Given the description of an element on the screen output the (x, y) to click on. 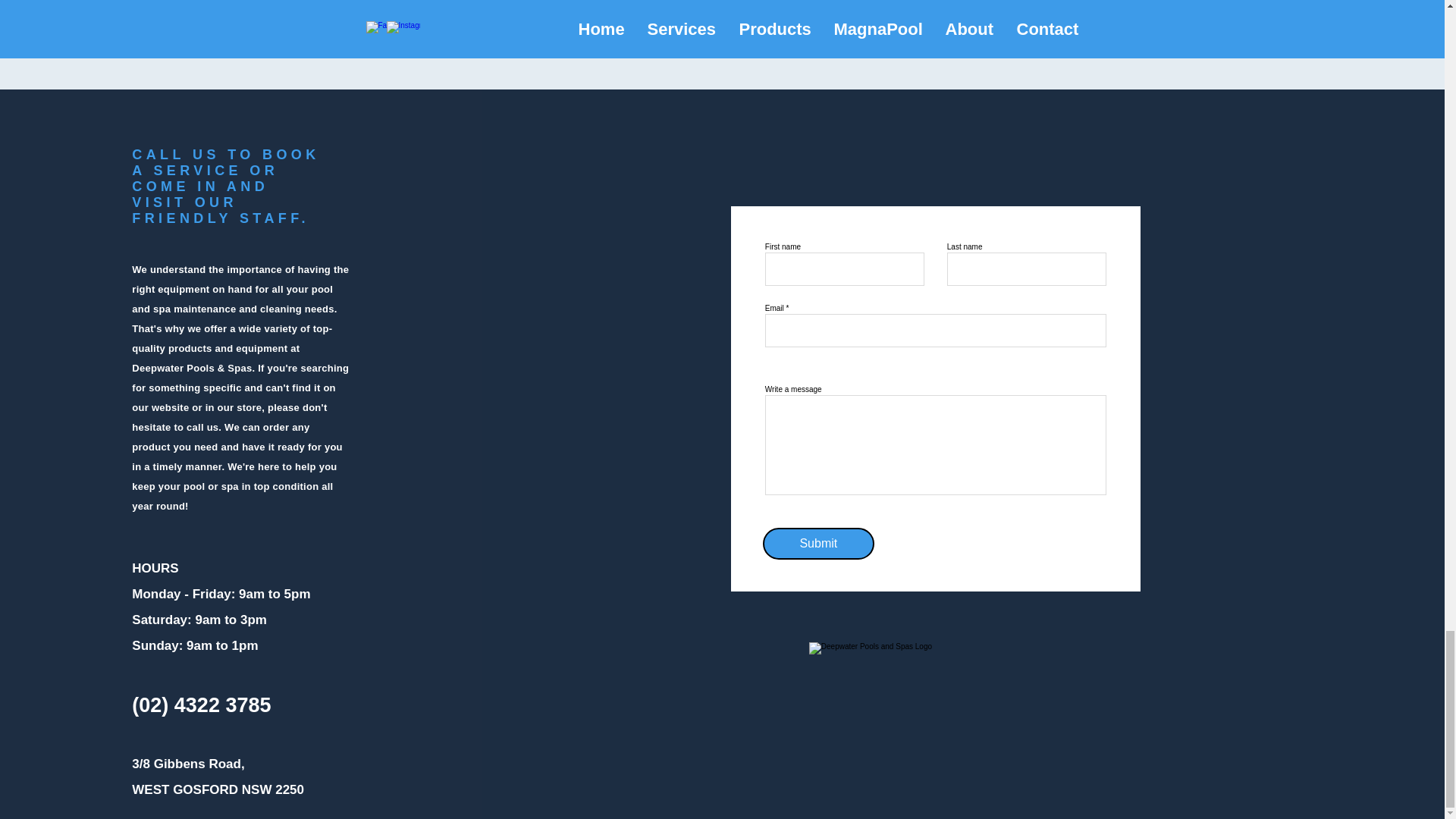
Submit (818, 543)
